Given the description of an element on the screen output the (x, y) to click on. 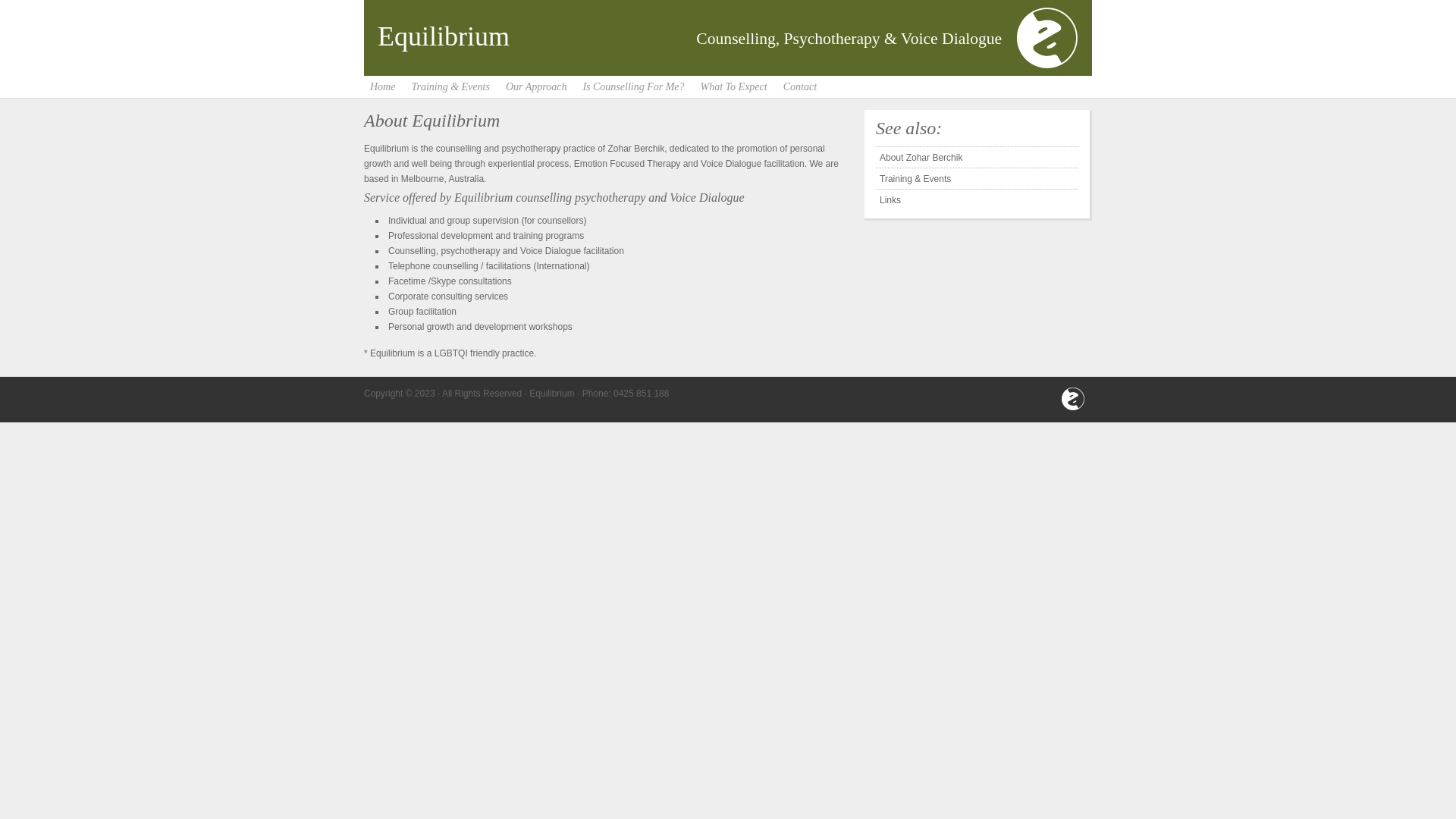
Our Approach Element type: text (536, 86)
Contact Element type: text (799, 86)
What To Expect Element type: text (733, 86)
Training & Events Element type: text (449, 86)
Training & Events Element type: text (976, 176)
Equilibrium Element type: text (443, 36)
Links Element type: text (976, 197)
Is Counselling For Me? Element type: text (633, 86)
About Zohar Berchik Element type: text (976, 155)
Home Element type: text (382, 86)
